Given the description of an element on the screen output the (x, y) to click on. 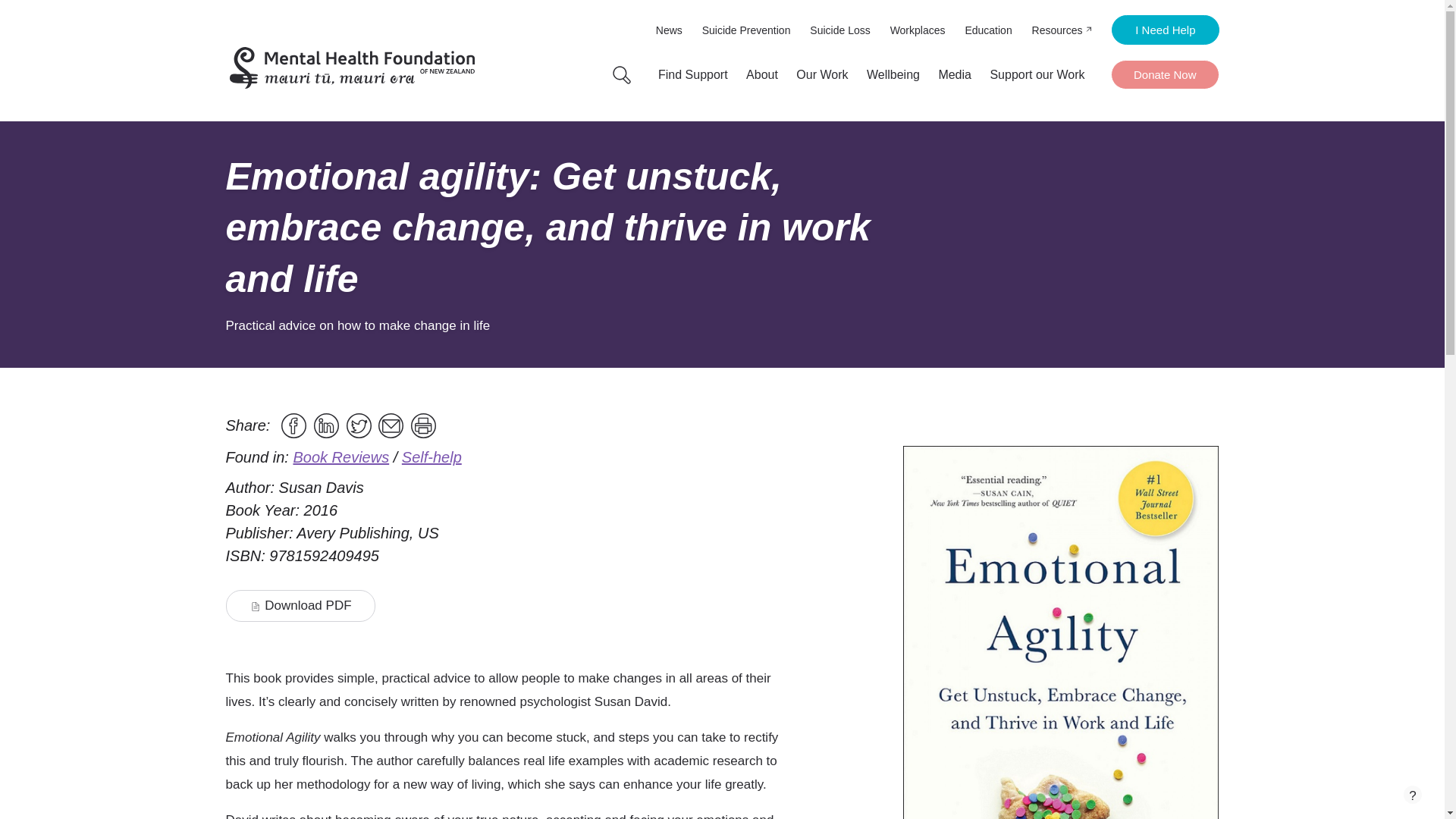
Media (954, 74)
Suicide Prevention (746, 29)
Resources (1062, 29)
About (761, 74)
News (668, 29)
Education (987, 29)
Suicide Loss (839, 29)
I Need Help (1165, 30)
Find Support (693, 74)
Donate Now (1165, 74)
Our Work (821, 74)
Workplaces (917, 29)
Support our Work (1037, 74)
Wellbeing (893, 74)
